Given the description of an element on the screen output the (x, y) to click on. 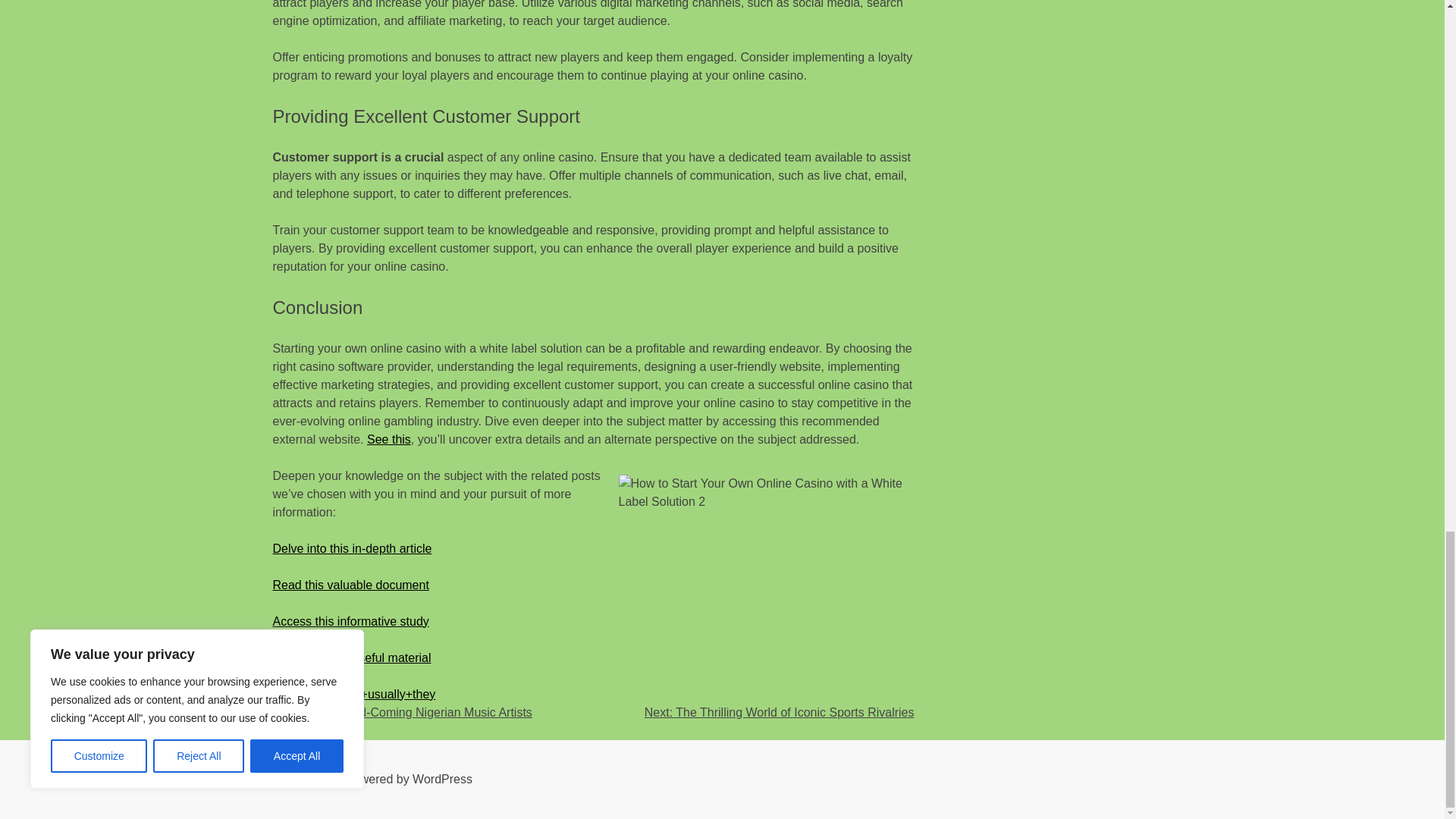
Delve into this in-depth article (352, 548)
Delve into this useful material (351, 657)
Previous: Up-and-Coming Nigerian Music Artists (402, 712)
Access this informative study (351, 621)
Next: The Thrilling World of Iconic Sports Rivalries (779, 712)
Read this valuable document (351, 584)
See this (388, 439)
